Given the description of an element on the screen output the (x, y) to click on. 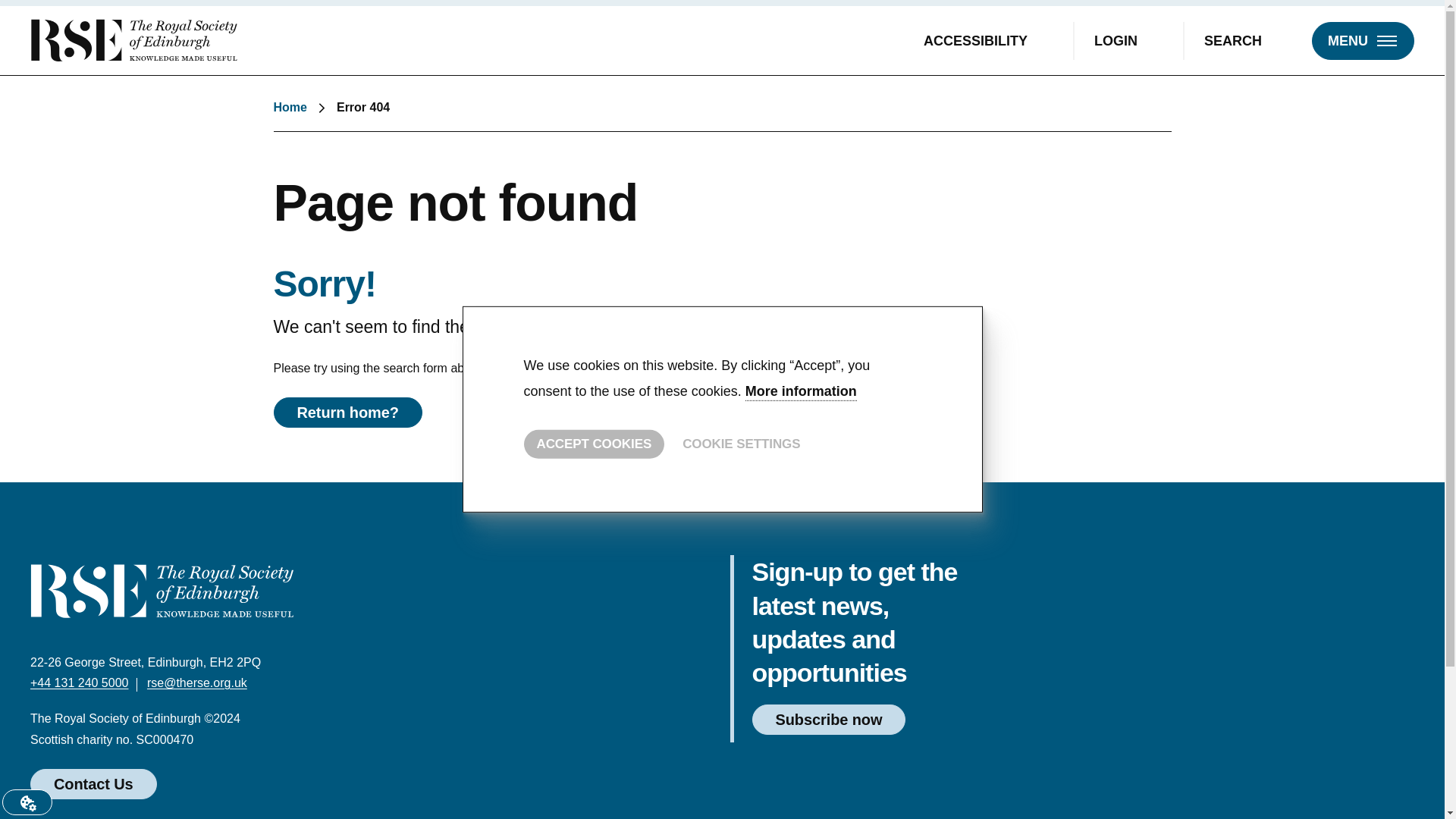
LOGIN (1128, 39)
SEARCH (1246, 39)
MENU (1362, 39)
ACCESSIBILITY (988, 39)
